Given the description of an element on the screen output the (x, y) to click on. 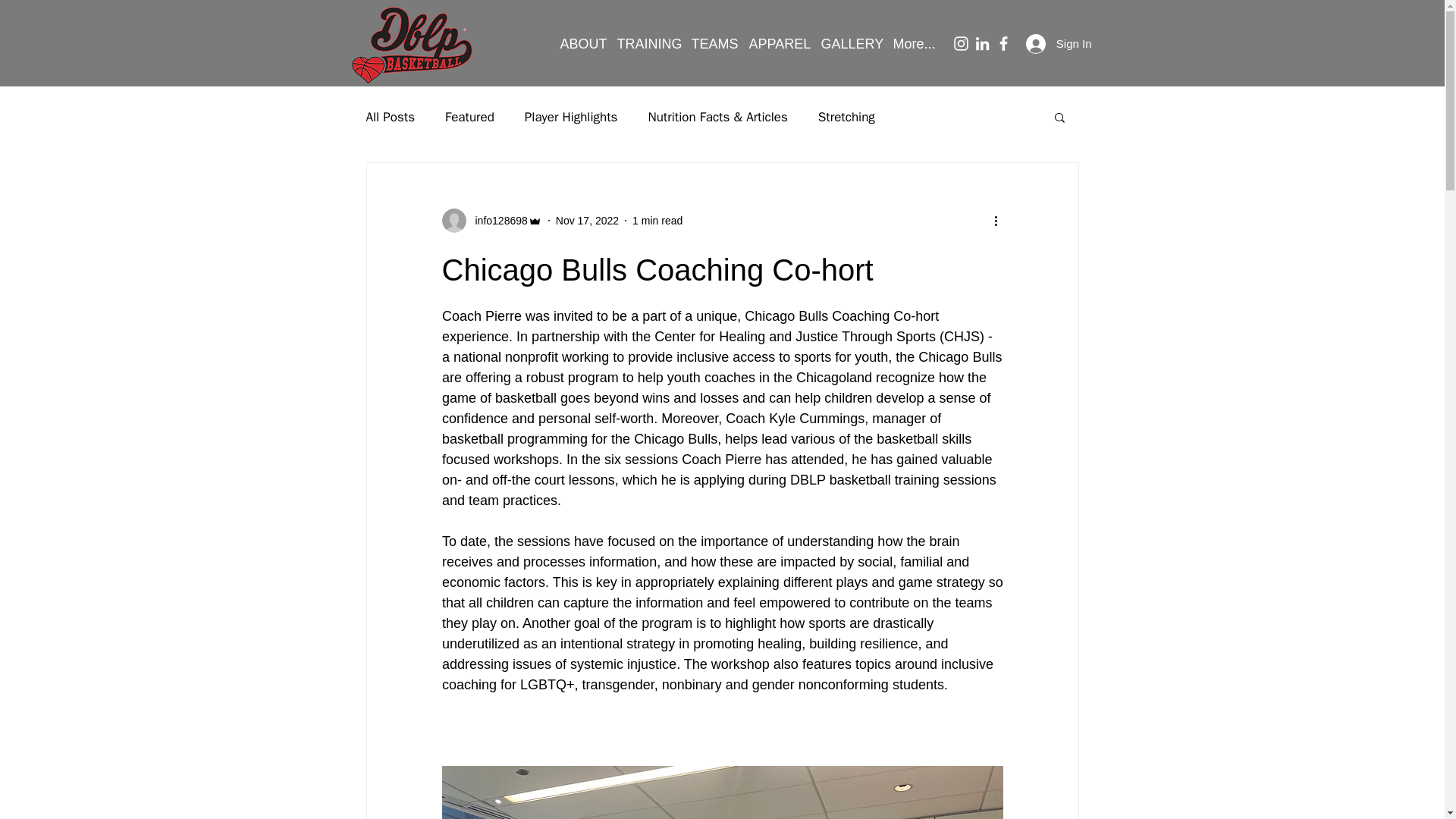
TRAINING (647, 43)
GALLERY (848, 43)
Nov 17, 2022 (587, 219)
ABOUT (579, 43)
info128698 (491, 220)
APPAREL (777, 43)
TEAMS (712, 43)
Sign In (1058, 42)
1 min read (656, 219)
All Posts (389, 116)
Stretching (846, 116)
Player Highlights (570, 116)
info128698 (496, 220)
Featured (470, 116)
